Given the description of an element on the screen output the (x, y) to click on. 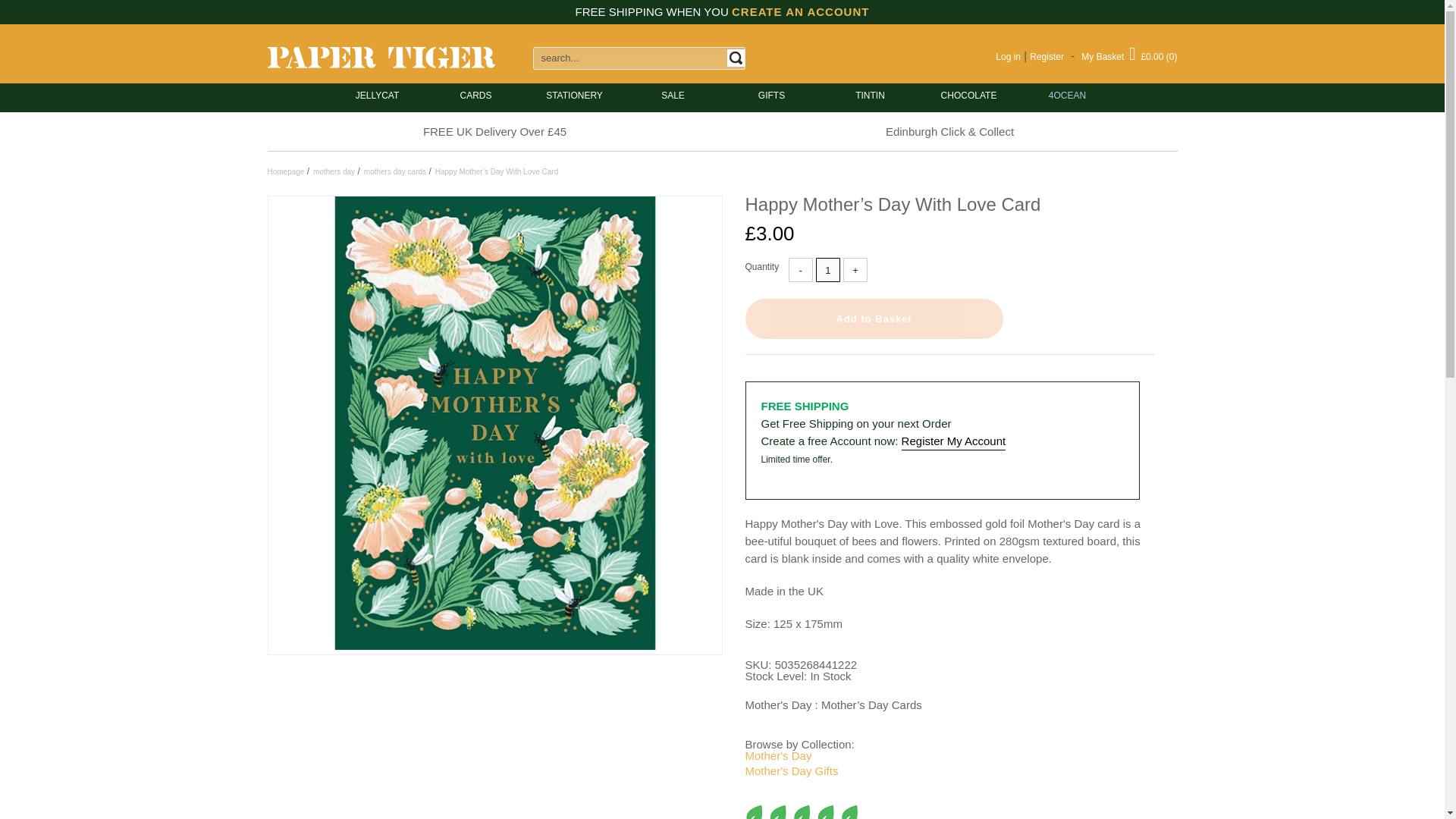
- (800, 269)
Add to Basket (873, 318)
JELLYCAT (376, 95)
Register (1046, 56)
1 (827, 269)
CREATE AN ACCOUNT (800, 11)
Log in (1007, 56)
jellycat (376, 95)
